Given the description of an element on the screen output the (x, y) to click on. 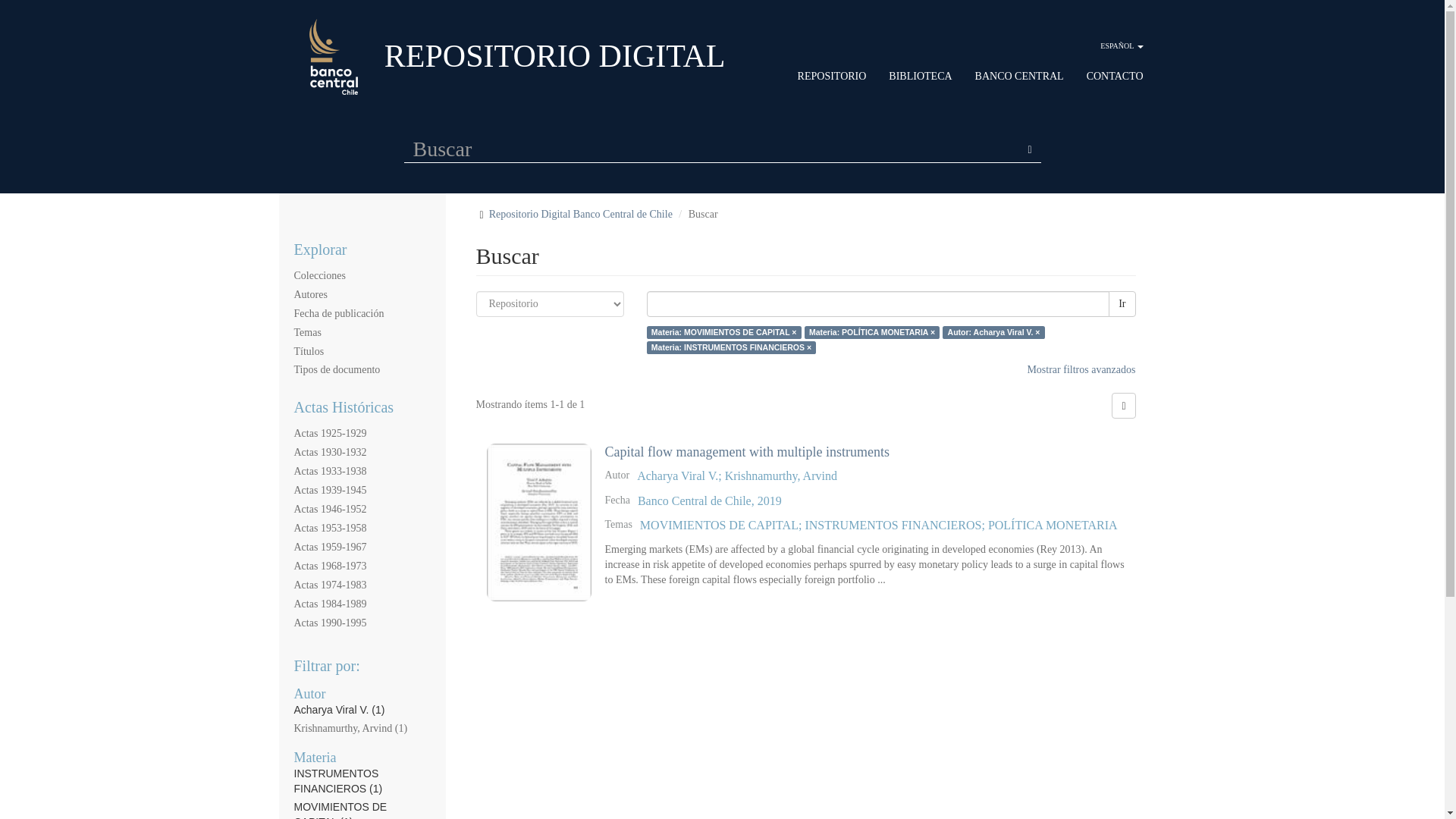
BIBLIOTECA (920, 75)
Temas (307, 332)
Actas 1925-1929 (330, 432)
Autores (310, 294)
Actas 1959-1967 (330, 546)
Actas 1974-1983 (330, 584)
Actas 1953-1958 (330, 527)
CONTACTO (1114, 75)
Actas 1939-1945 (330, 490)
Actas 1984-1989 (330, 603)
Colecciones (320, 275)
Actas 1990-1995 (330, 622)
REPOSITORIO (831, 75)
Tipos de documento (337, 369)
Actas 1946-1952 (330, 509)
